Given the description of an element on the screen output the (x, y) to click on. 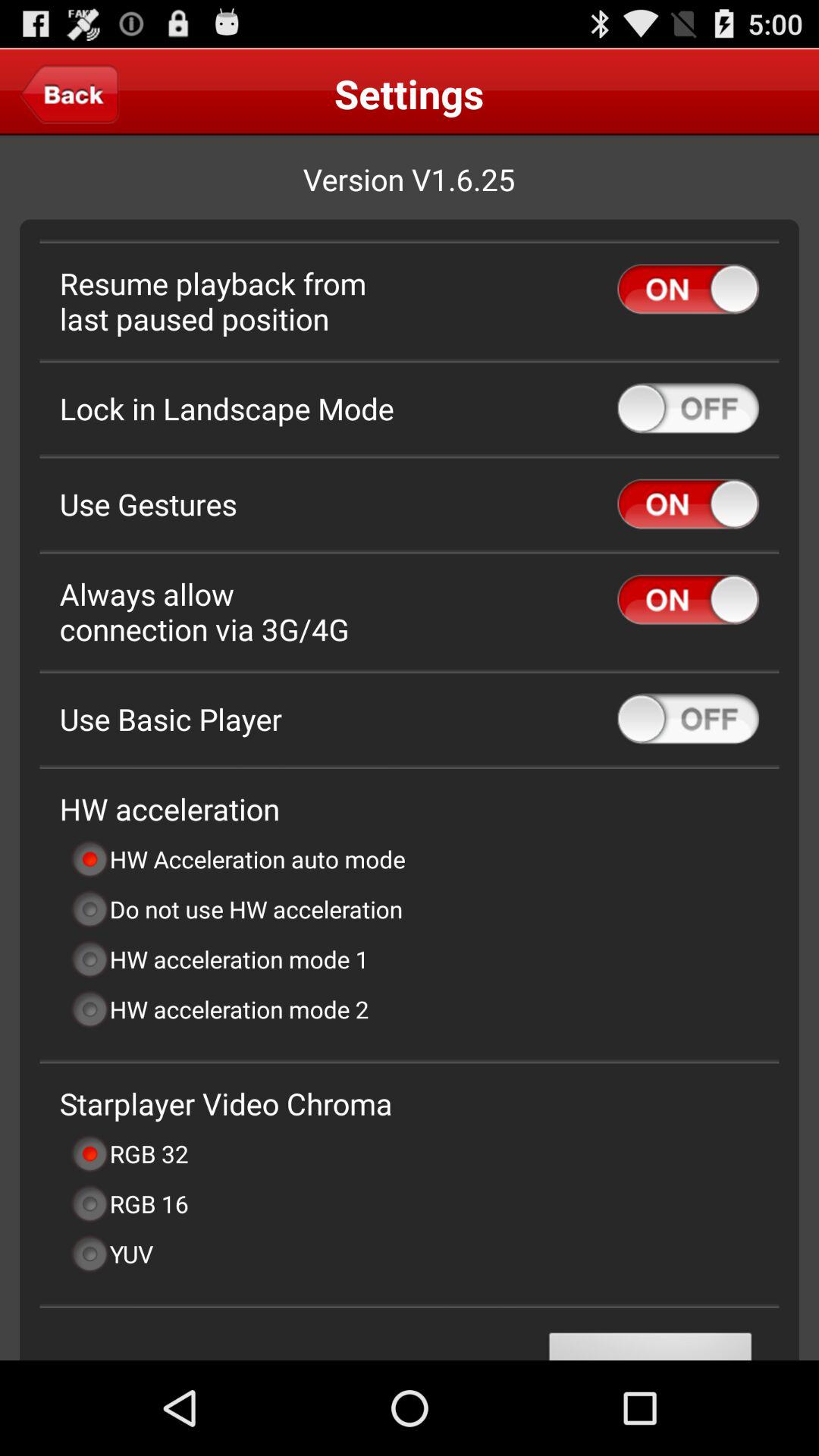
toggle landscape mode lock (688, 408)
